Given the description of an element on the screen output the (x, y) to click on. 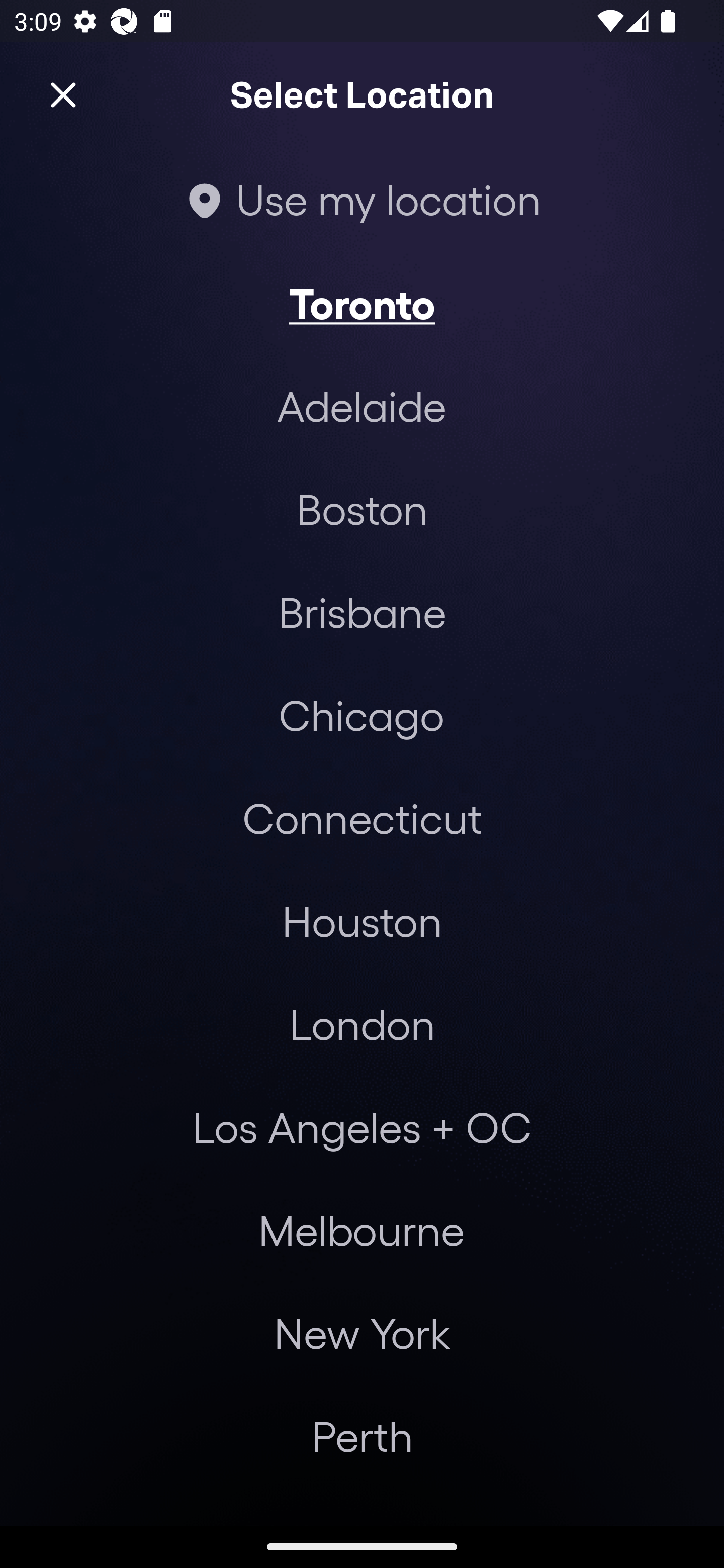
Close (62, 95)
   Use my location (362, 198)
Toronto (361, 302)
Adelaide (361, 405)
Boston (361, 508)
Brisbane (361, 611)
Chicago (361, 714)
Connecticut (361, 817)
Houston (361, 920)
London (361, 1023)
Los Angeles + OC (361, 1127)
Melbourne (361, 1230)
New York (361, 1332)
Perth (361, 1436)
